Given the description of an element on the screen output the (x, y) to click on. 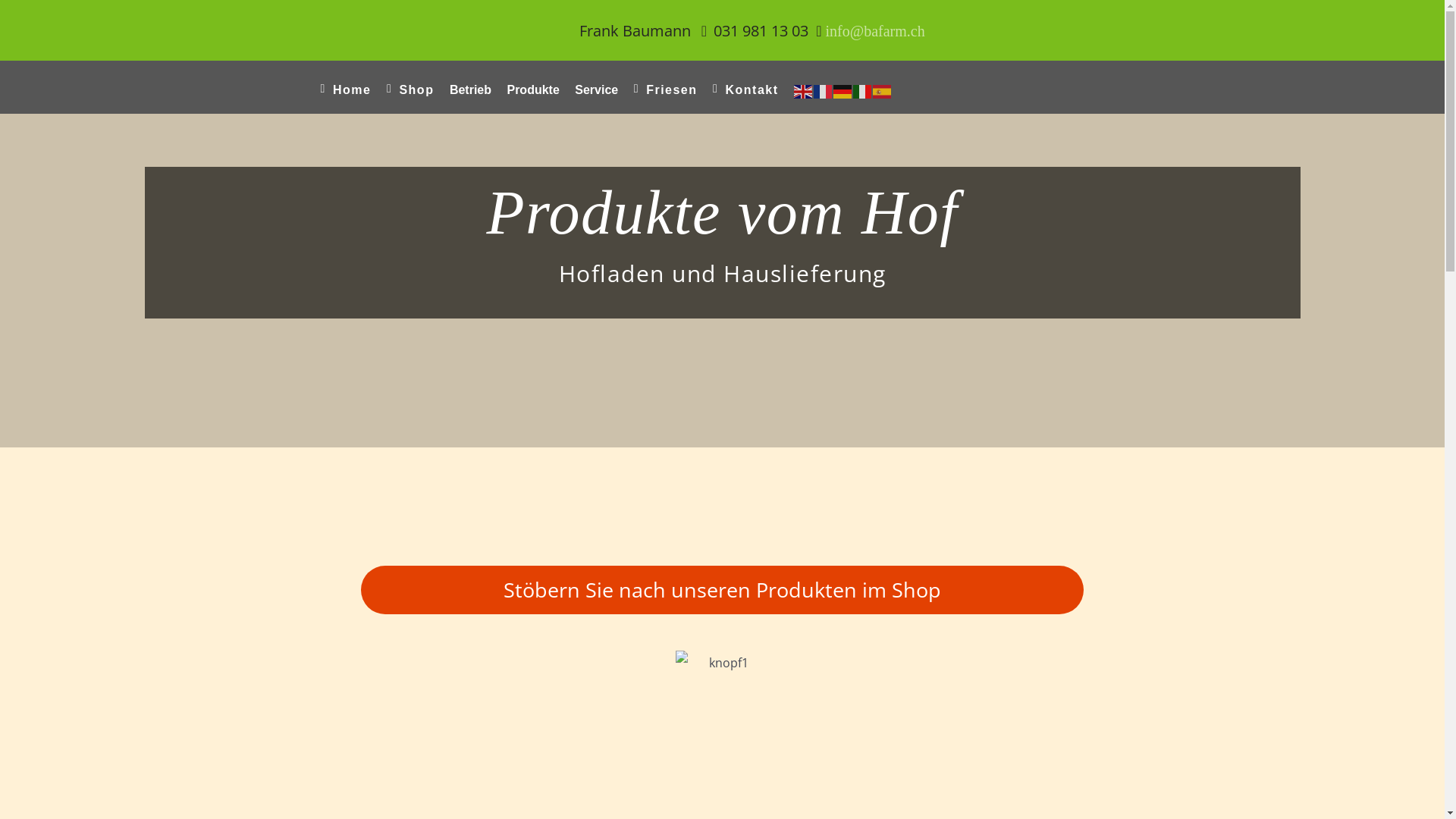
Kontakt Element type: text (745, 91)
French Element type: hover (823, 90)
German Element type: hover (843, 90)
Home Element type: text (345, 91)
English Element type: hover (803, 90)
Spanish Element type: hover (882, 90)
Friesen Element type: text (665, 91)
Italian Element type: hover (862, 90)
Shop Element type: text (409, 91)
info@bafarm.ch Element type: text (875, 30)
